Given the description of an element on the screen output the (x, y) to click on. 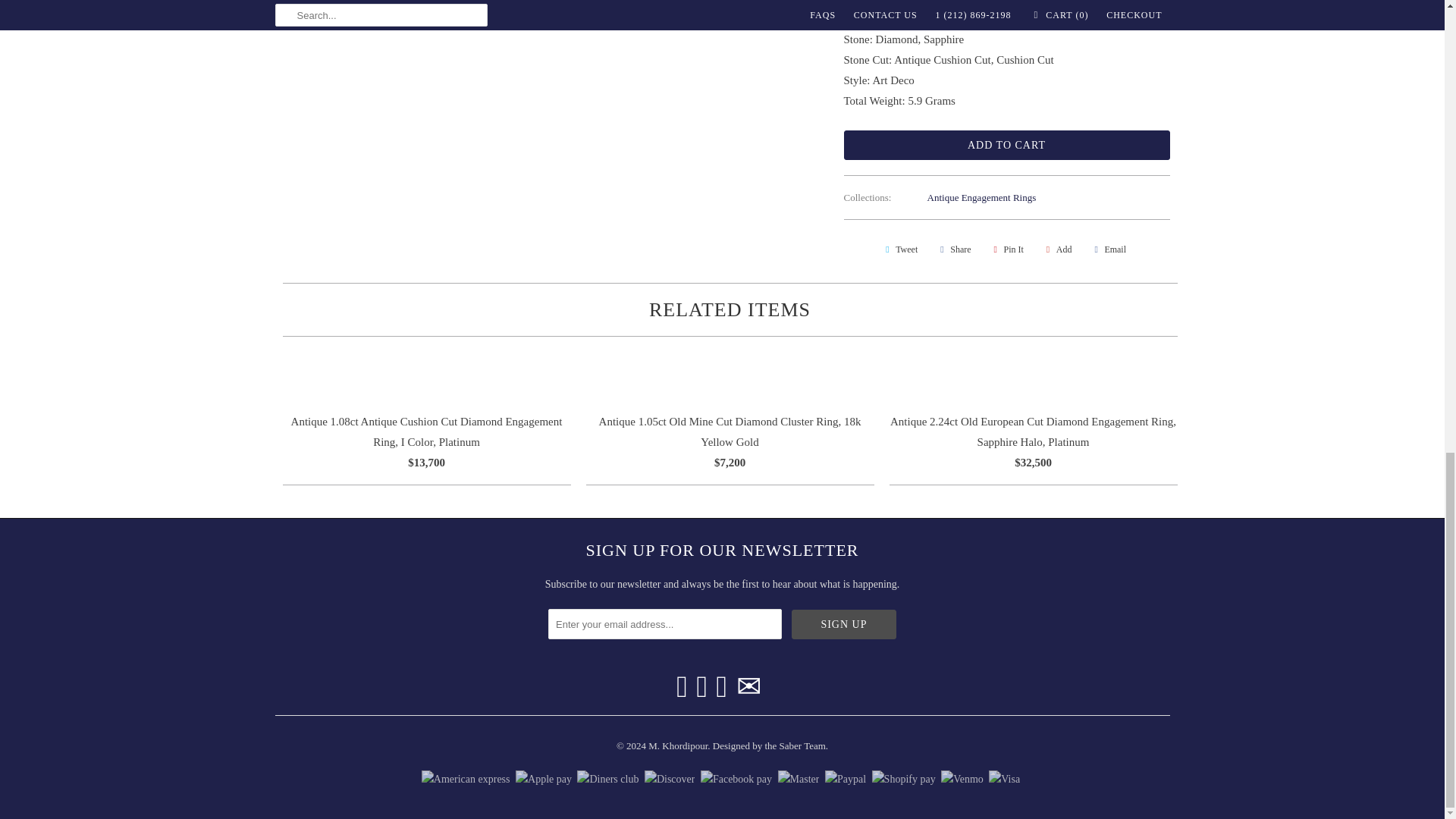
Antique Engagement Rings (981, 197)
Email this to a friend (1107, 249)
Sign Up (844, 624)
Share this on Pinterest (1005, 249)
ADD TO CART (1006, 144)
Browse Antique Engagement Rings (981, 197)
Share this on Facebook (953, 249)
Share this on Twitter (898, 249)
